Given the description of an element on the screen output the (x, y) to click on. 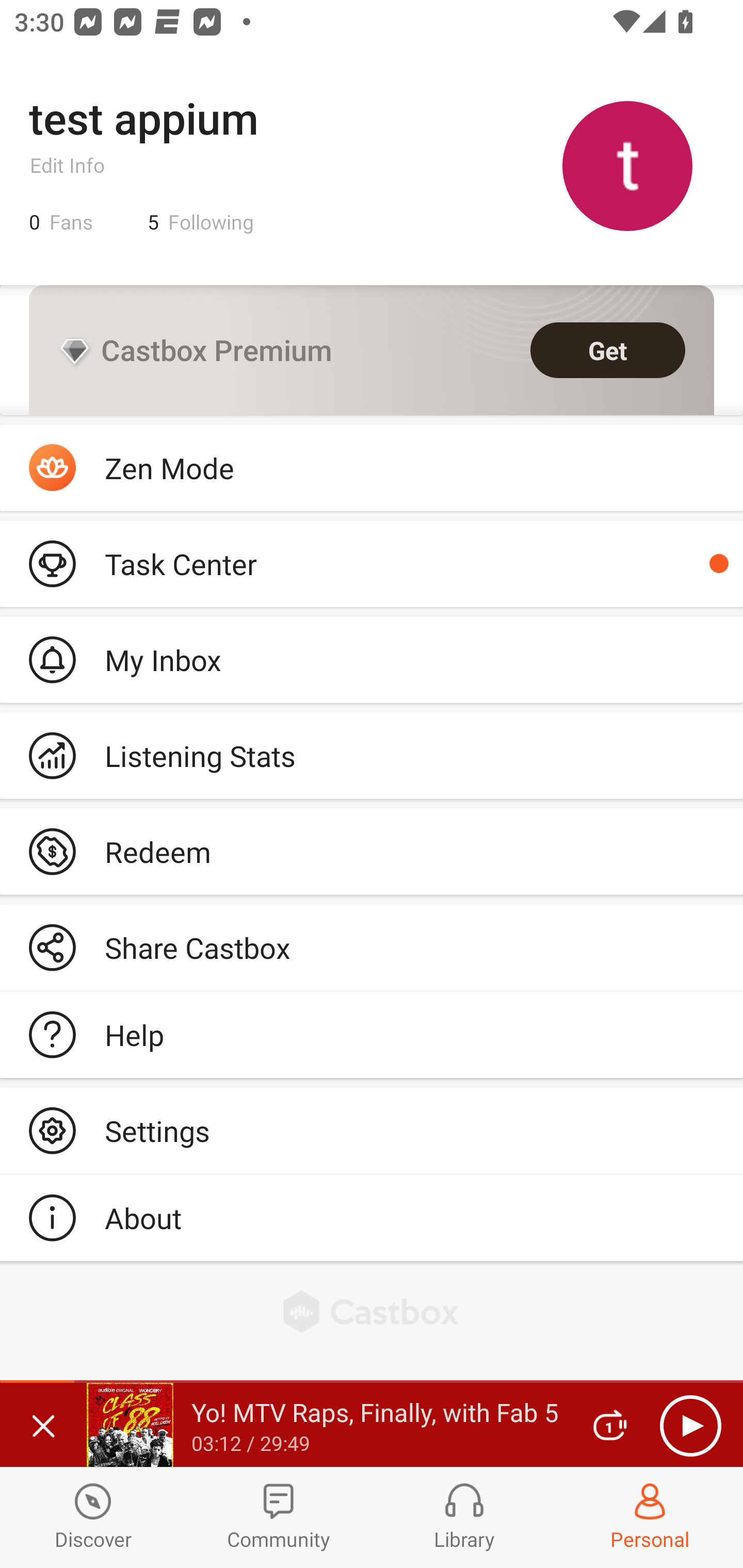
test appium Edit Info 0 Fans 5 Following (371, 165)
0 Fans (60, 221)
5 Following (200, 221)
Castbox Premium Get (371, 350)
Get (607, 350)
Zen Mode (371, 467)
Podcaster  Task Center (371, 563)
 My Inbox (371, 659)
 Listening Stats (371, 755)
 Redeem (371, 851)
 Share Castbox (371, 947)
 Help (371, 1034)
 Settings (371, 1130)
 About (371, 1217)
Play (690, 1425)
Discover (92, 1517)
Community (278, 1517)
Library (464, 1517)
Profiles and Settings Personal (650, 1517)
